Given the description of an element on the screen output the (x, y) to click on. 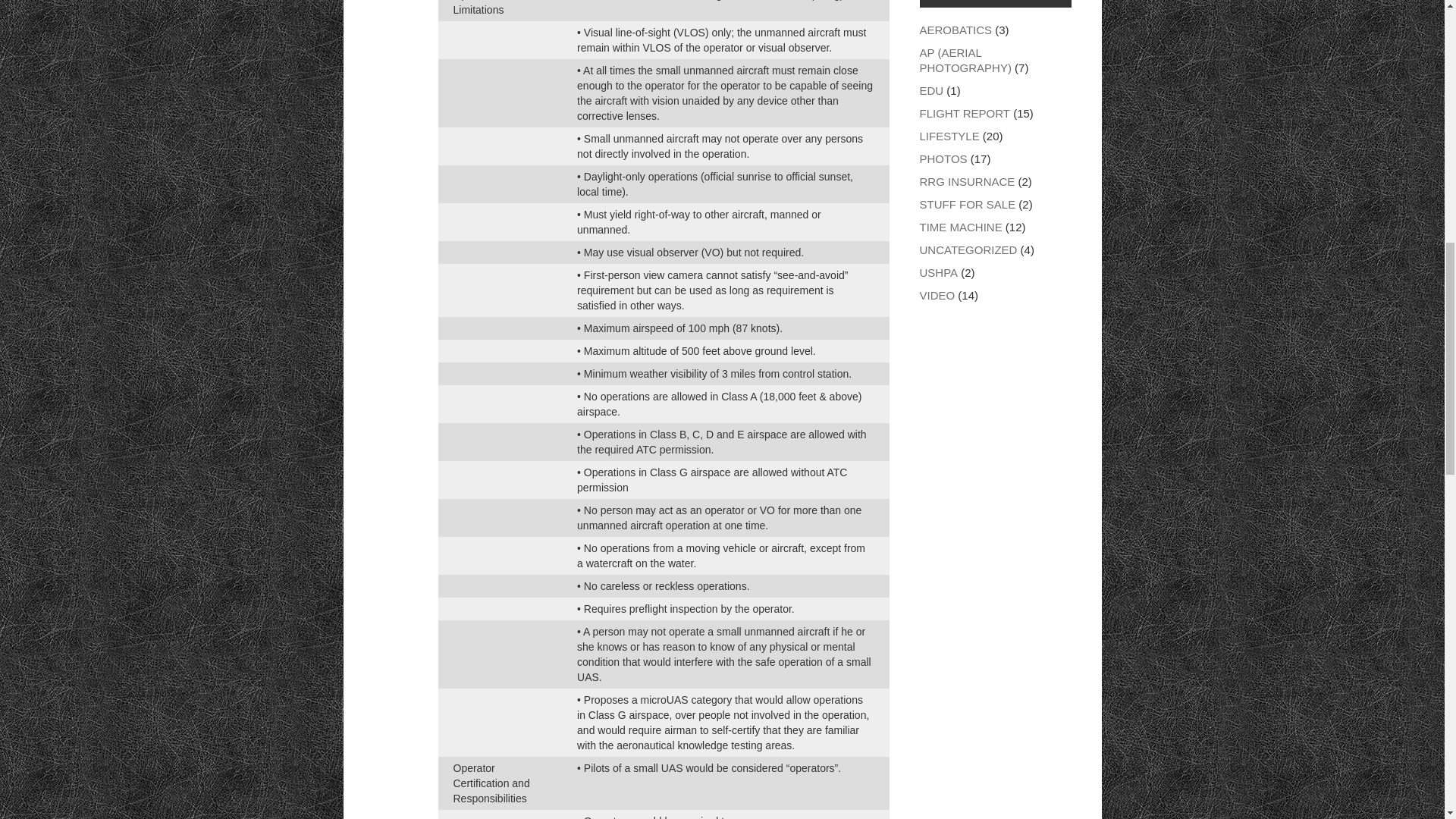
AEROBATICS (954, 29)
LIFESTYLE (948, 135)
RRG INSURNACE (966, 181)
TIME MACHINE (959, 226)
VIDEO (936, 295)
EDU (930, 90)
PHOTOS (942, 158)
UNCATEGORIZED (967, 249)
FLIGHT REPORT (963, 113)
USHPA (938, 272)
